Given the description of an element on the screen output the (x, y) to click on. 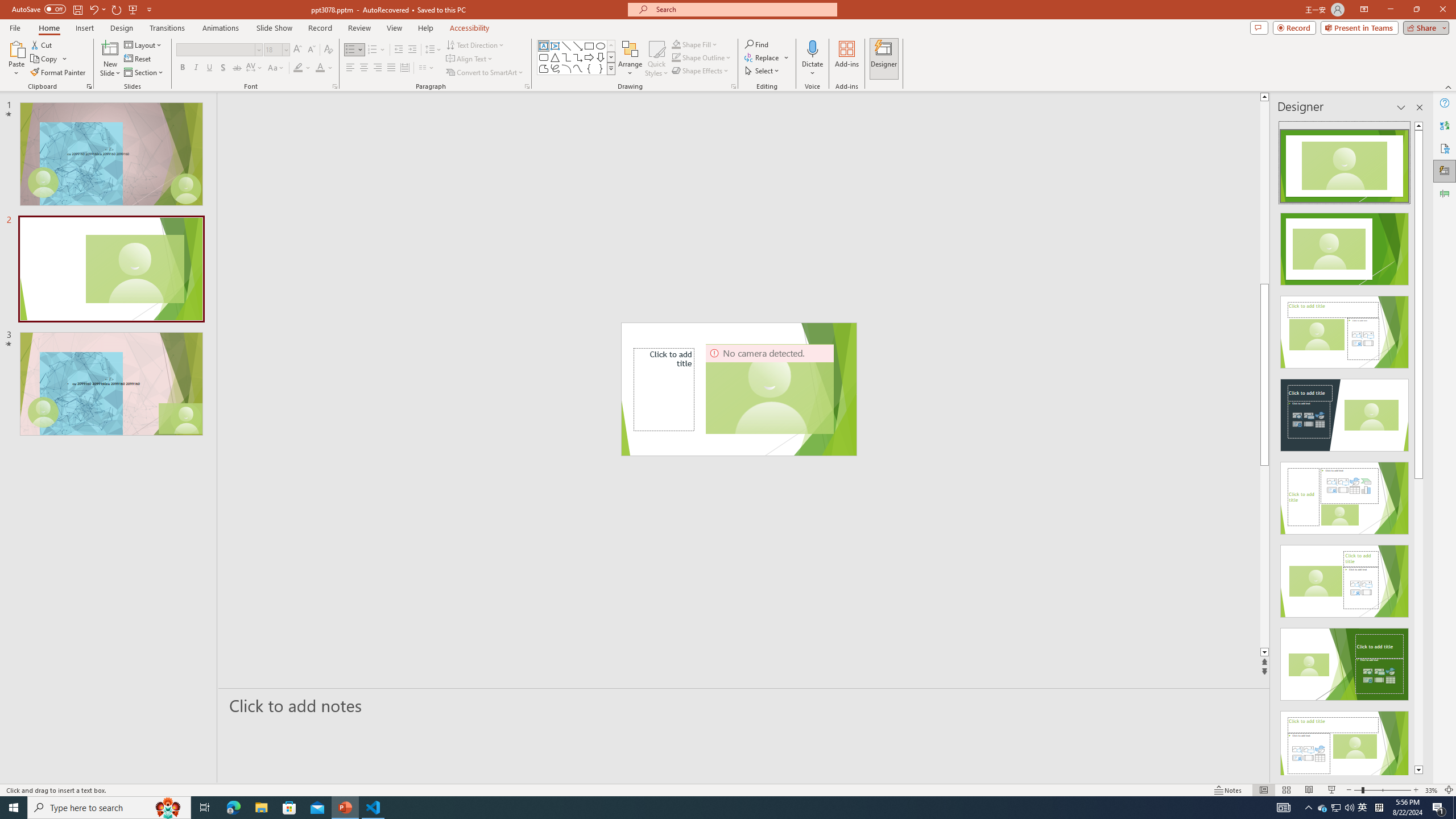
Recommended Design: Design Idea (1344, 162)
